Given the description of an element on the screen output the (x, y) to click on. 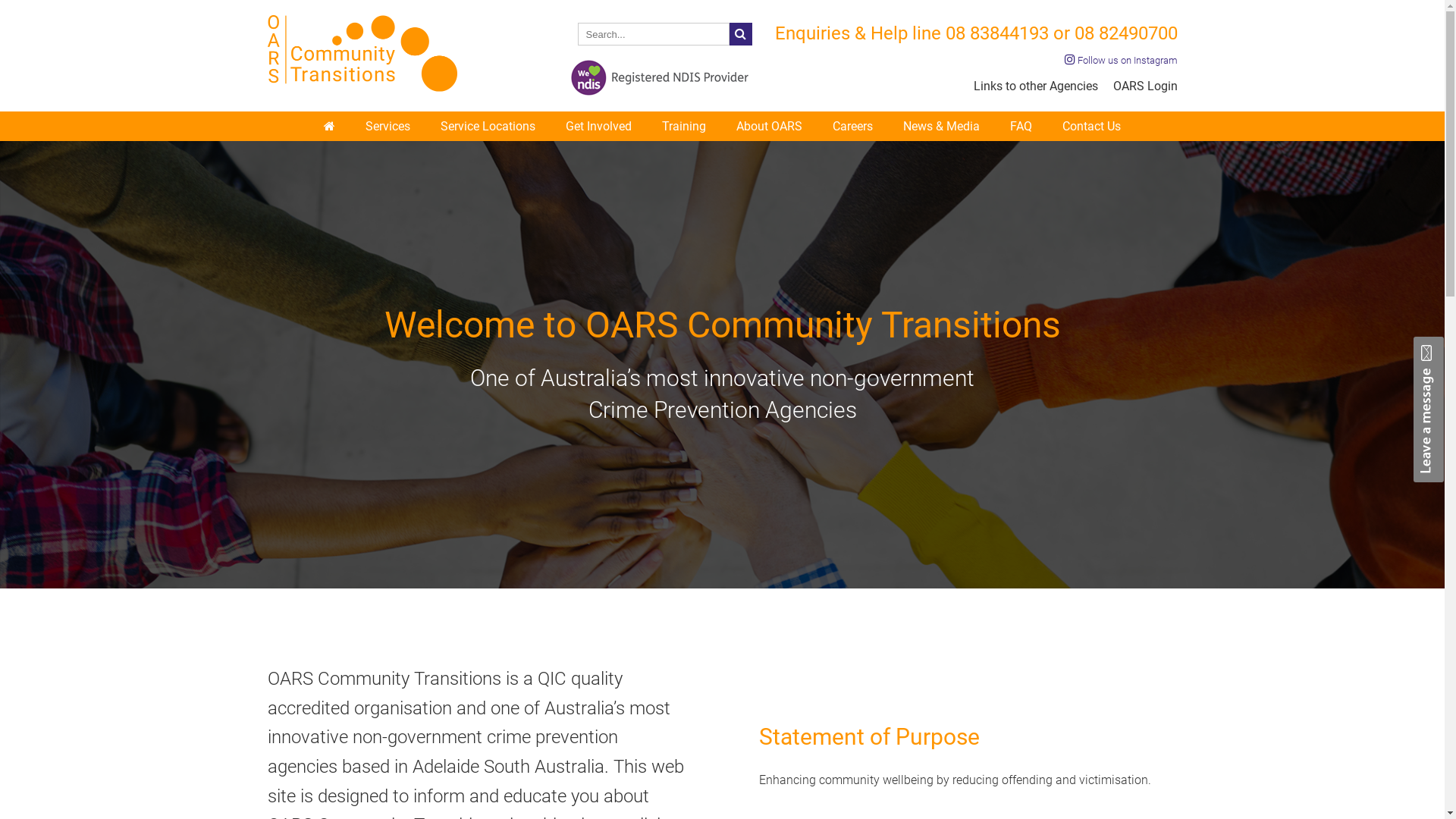
Contact Us Element type: text (1091, 126)
Training Element type: text (683, 126)
FAQ Element type: text (1020, 126)
About OARS Element type: text (769, 126)
News & Media Element type: text (941, 126)
Services Element type: text (387, 126)
Links to other Agencies Element type: text (1035, 85)
Careers Element type: text (852, 126)
OARS Login Element type: text (1145, 85)
Get Involved Element type: text (598, 126)
Follow us on Instagram Element type: text (1120, 59)
Service Locations Element type: text (487, 126)
